Given the description of an element on the screen output the (x, y) to click on. 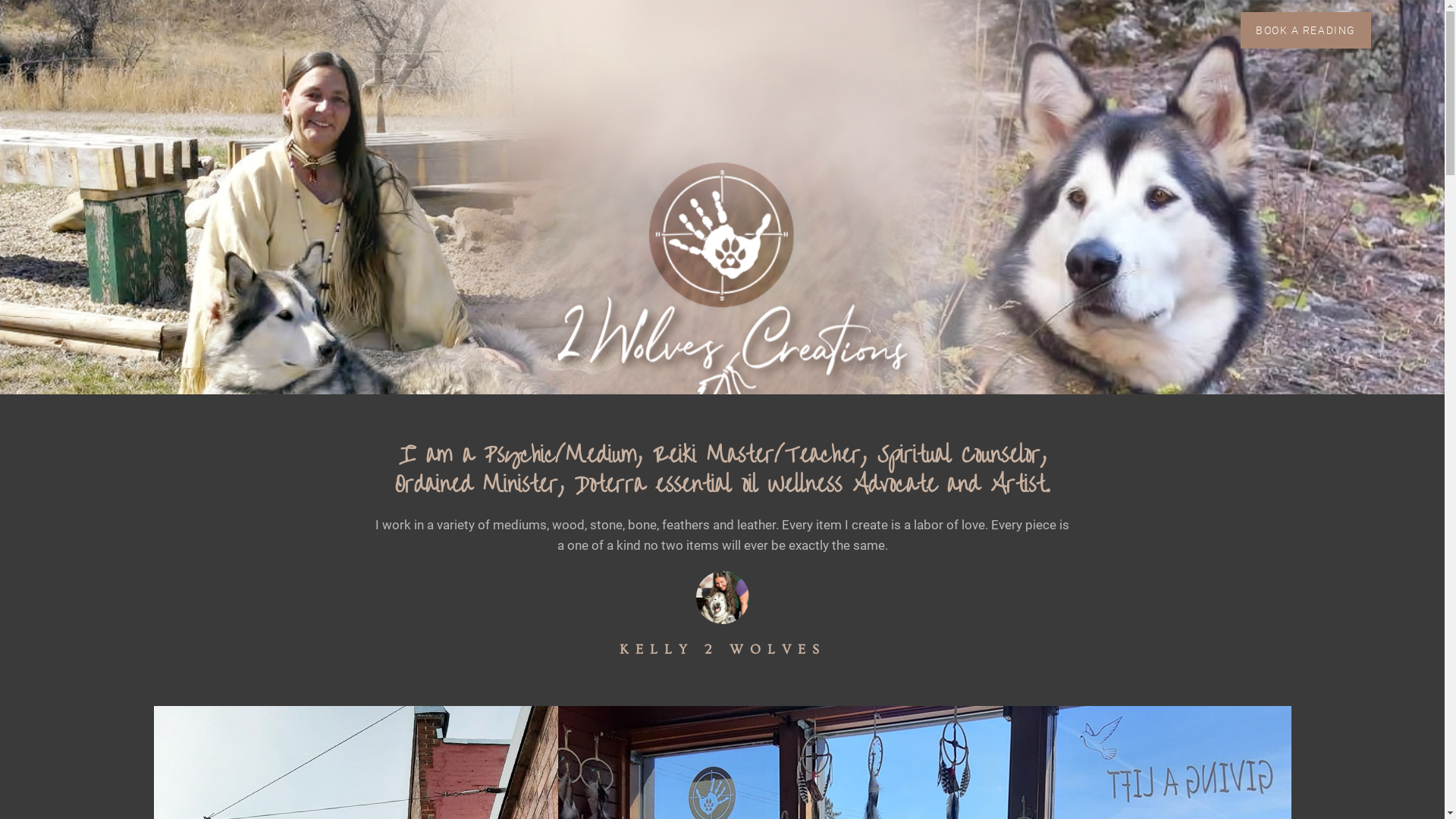
BOOK A READING Element type: text (1305, 30)
